Given the description of an element on the screen output the (x, y) to click on. 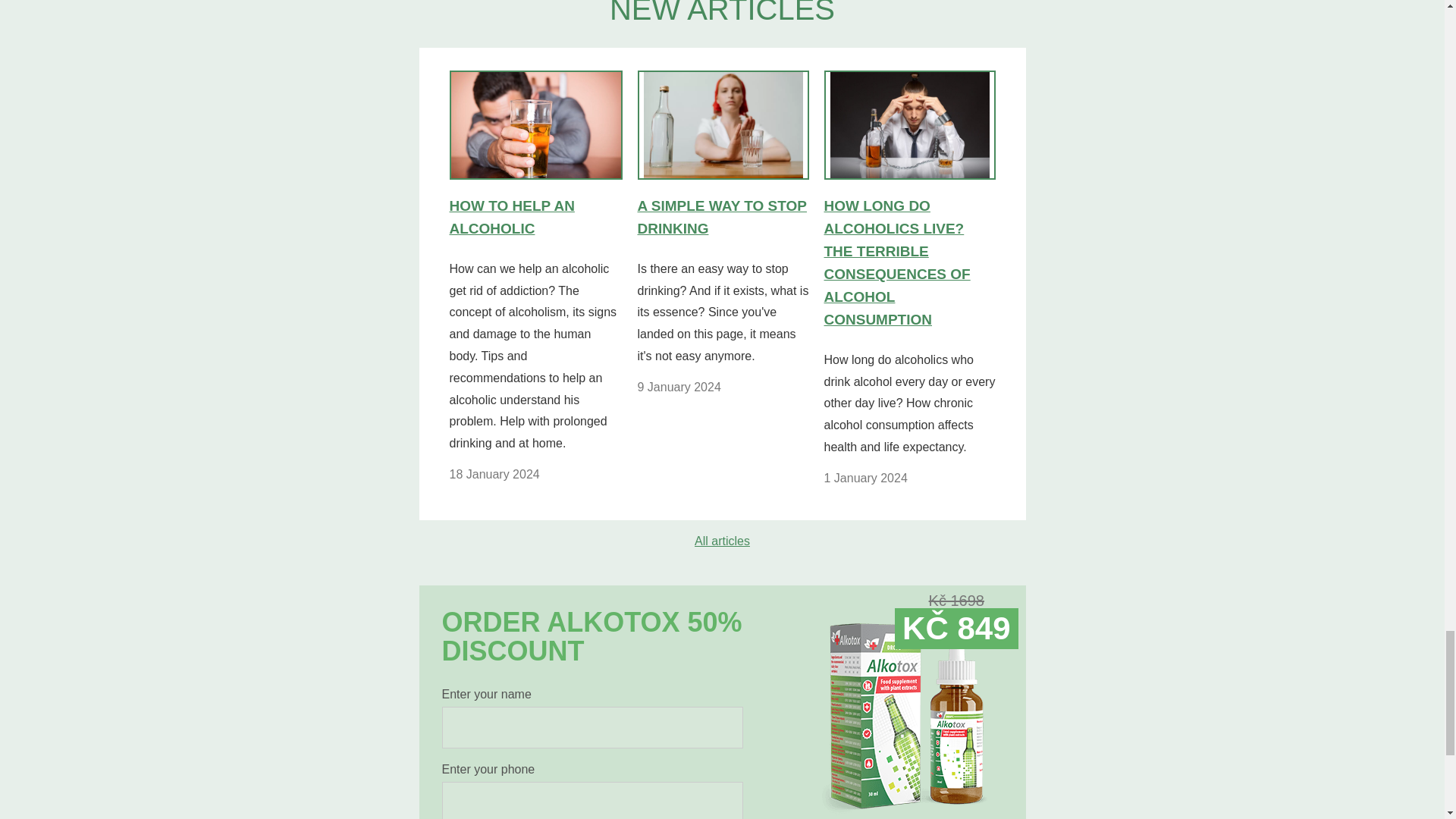
A SIMPLE WAY TO STOP DRINKING (722, 159)
HOW TO HELP AN ALCOHOLIC (534, 159)
